Given the description of an element on the screen output the (x, y) to click on. 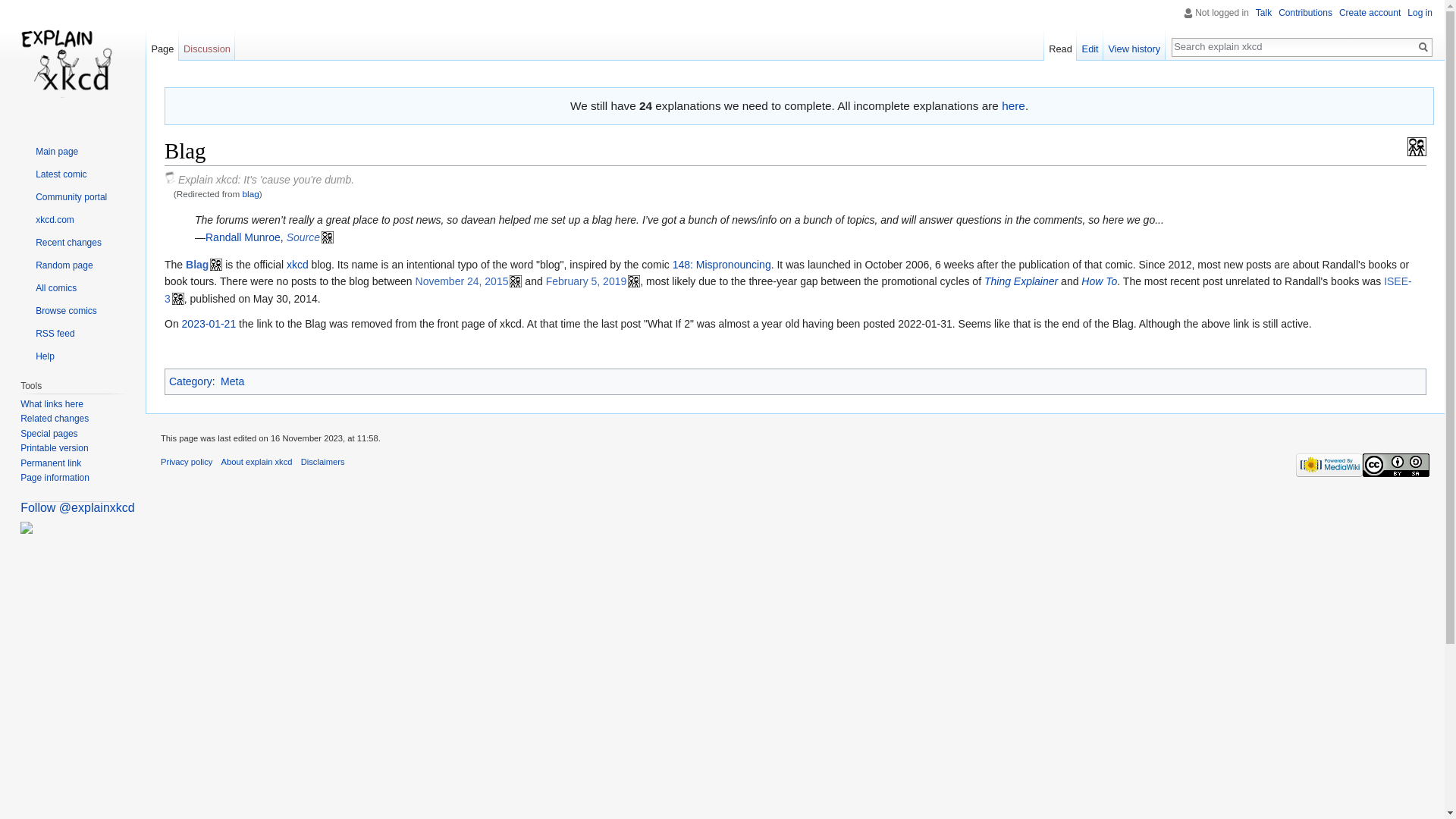
View history (1134, 45)
Read (1060, 45)
2023-01-21 (208, 323)
Community portal (63, 196)
Meta (232, 381)
xkcd (297, 264)
Browse comics (58, 310)
blag (251, 194)
Go (1423, 46)
Create account (1369, 12)
Talk (1263, 12)
148: Mispronouncing (721, 264)
Contributions (1305, 12)
November 24, 2015 (468, 281)
